Given the description of an element on the screen output the (x, y) to click on. 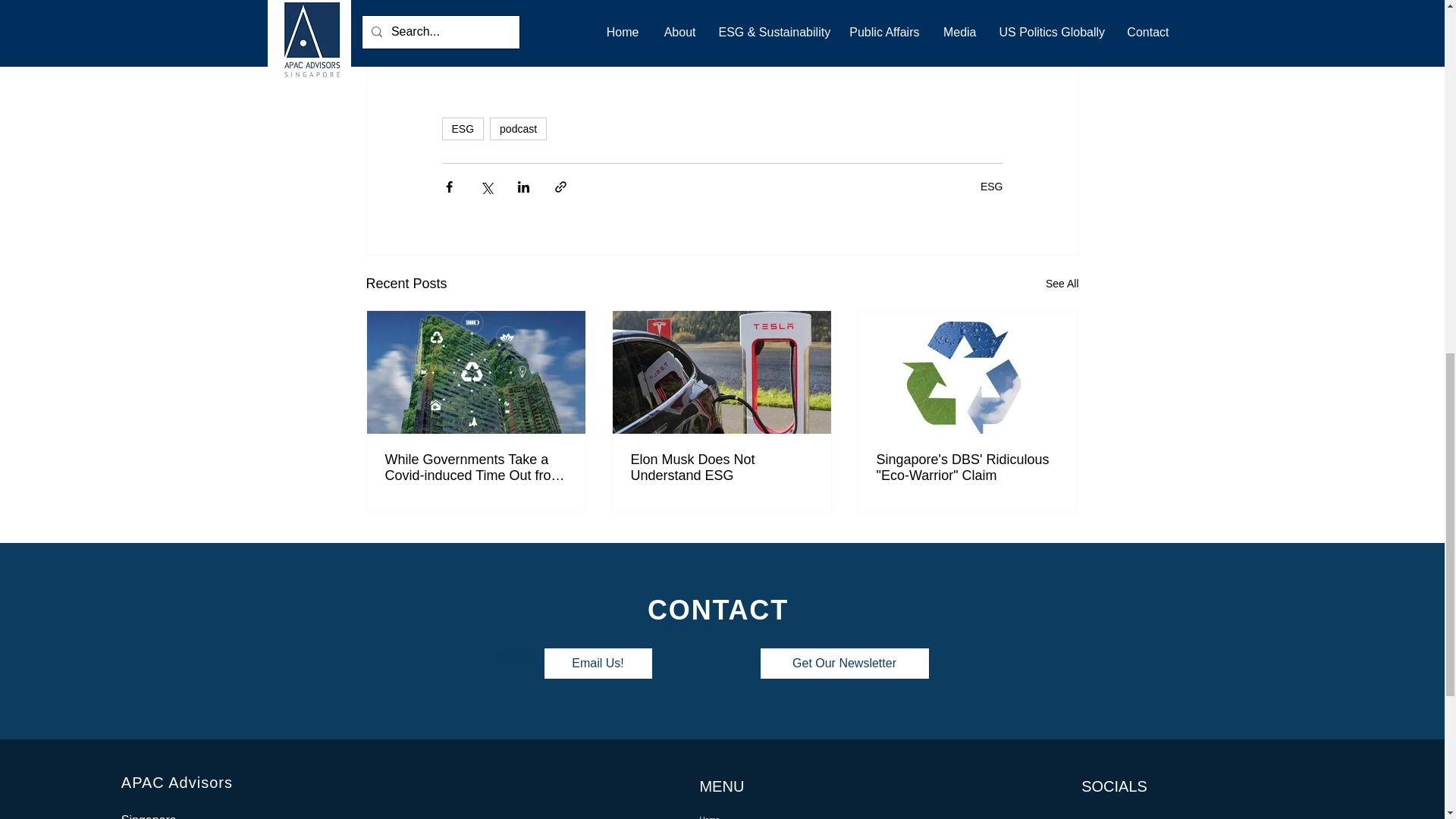
podcast (518, 128)
Elon Musk Does Not Understand ESG (721, 468)
Email Us! (598, 663)
ESG (462, 128)
Singapore's DBS' Ridiculous "Eco-Warrior" Claim (967, 468)
Get Our Newsletter (844, 663)
See All (1061, 283)
APAC Advisors (176, 782)
Home (776, 813)
ESG (991, 186)
